Given the description of an element on the screen output the (x, y) to click on. 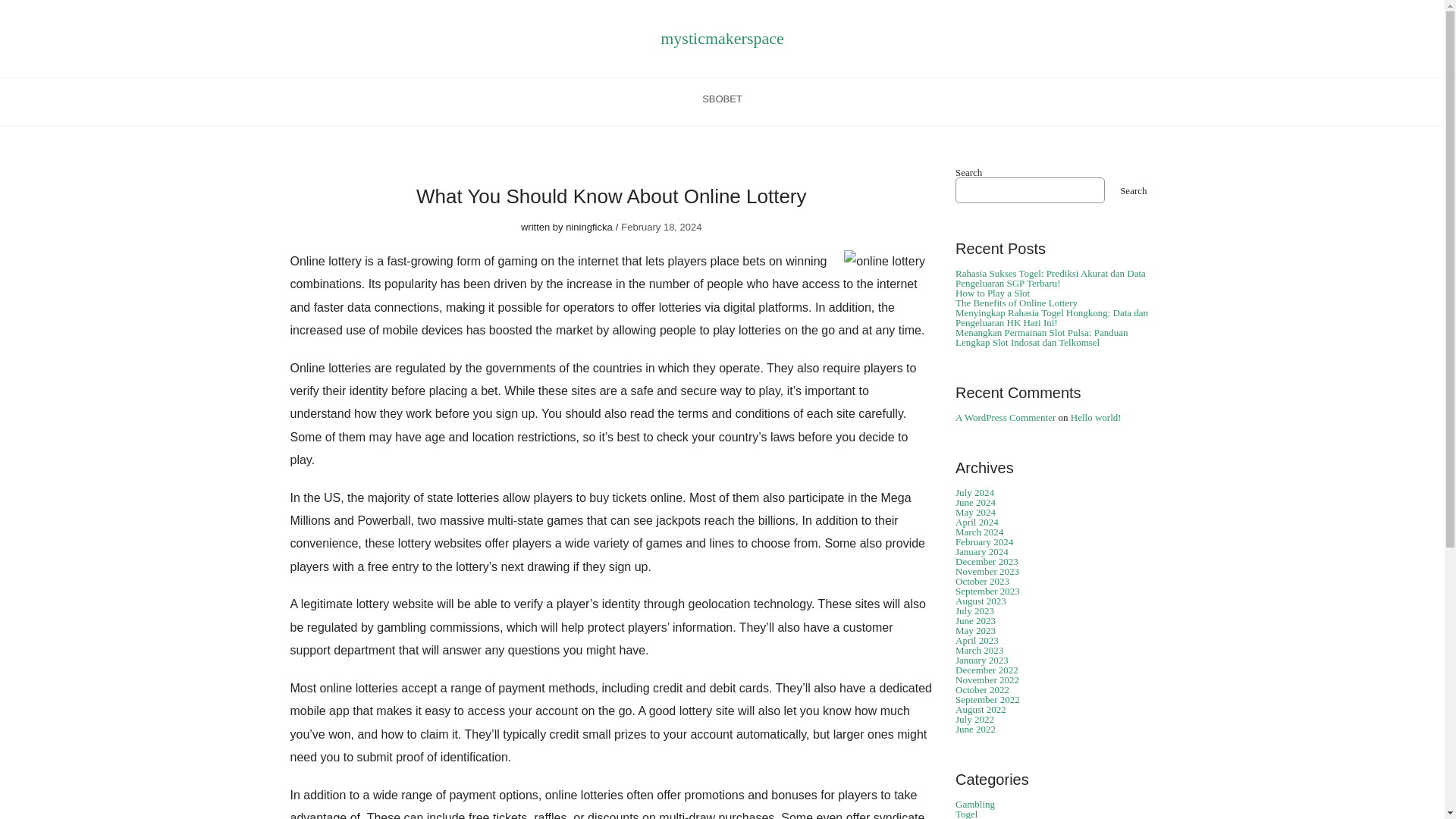
May 2023 (975, 630)
May 2024 (975, 511)
September 2022 (987, 699)
November 2022 (987, 679)
August 2023 (980, 600)
March 2023 (979, 650)
September 2023 (987, 591)
March 2024 (979, 531)
How to Play a Slot (992, 292)
The Benefits of Online Lottery (1016, 302)
mysticmakerspace (722, 38)
April 2023 (976, 640)
SBOBET (721, 101)
